Given the description of an element on the screen output the (x, y) to click on. 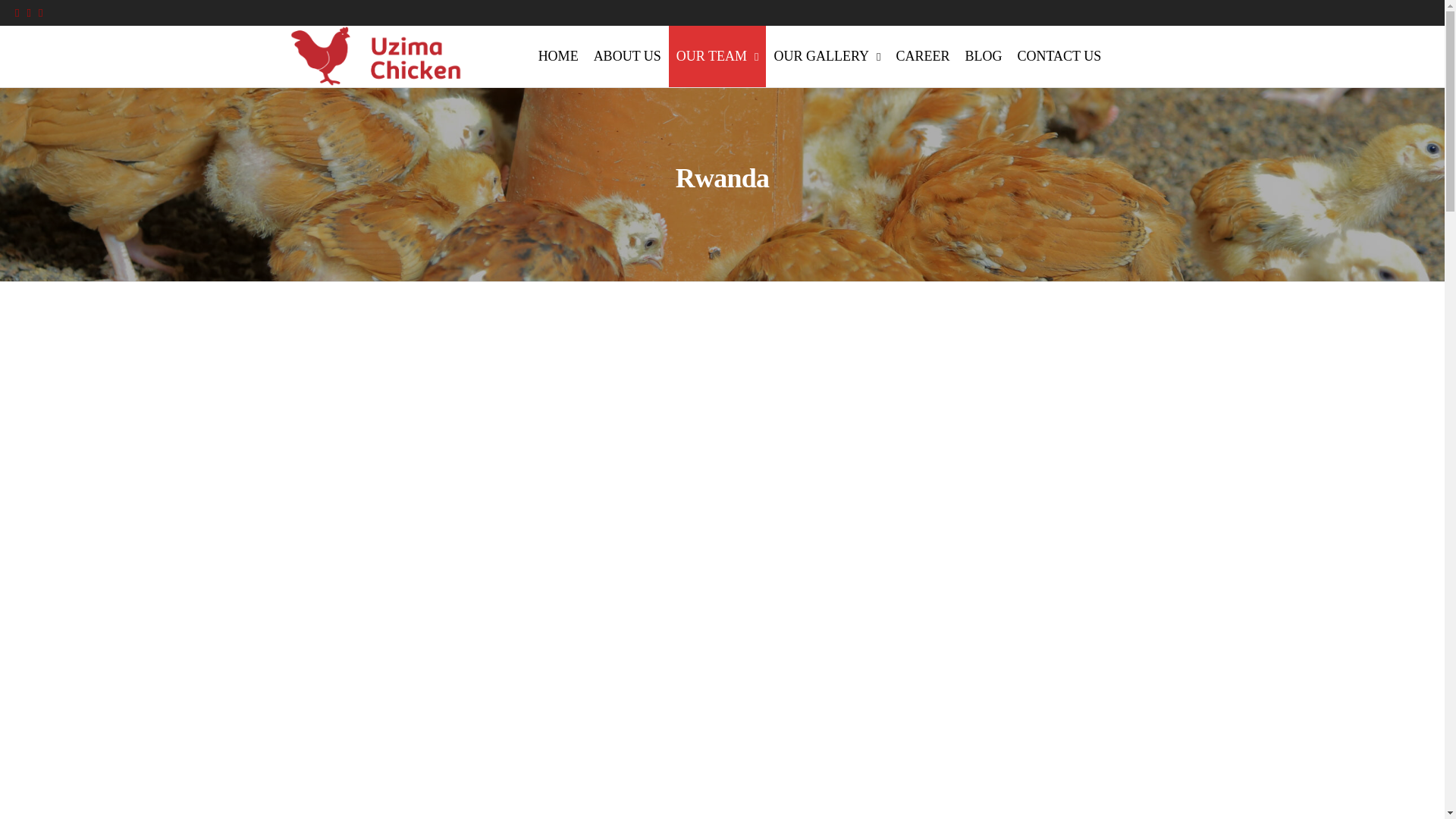
ABOUT US (627, 55)
OUR TEAM (717, 55)
About Us (627, 55)
Home (558, 55)
Uzima Chicken (510, 80)
Career (922, 55)
Our Gallery (826, 55)
Our Team (717, 55)
HOME (558, 55)
OUR GALLERY (826, 55)
